Given the description of an element on the screen output the (x, y) to click on. 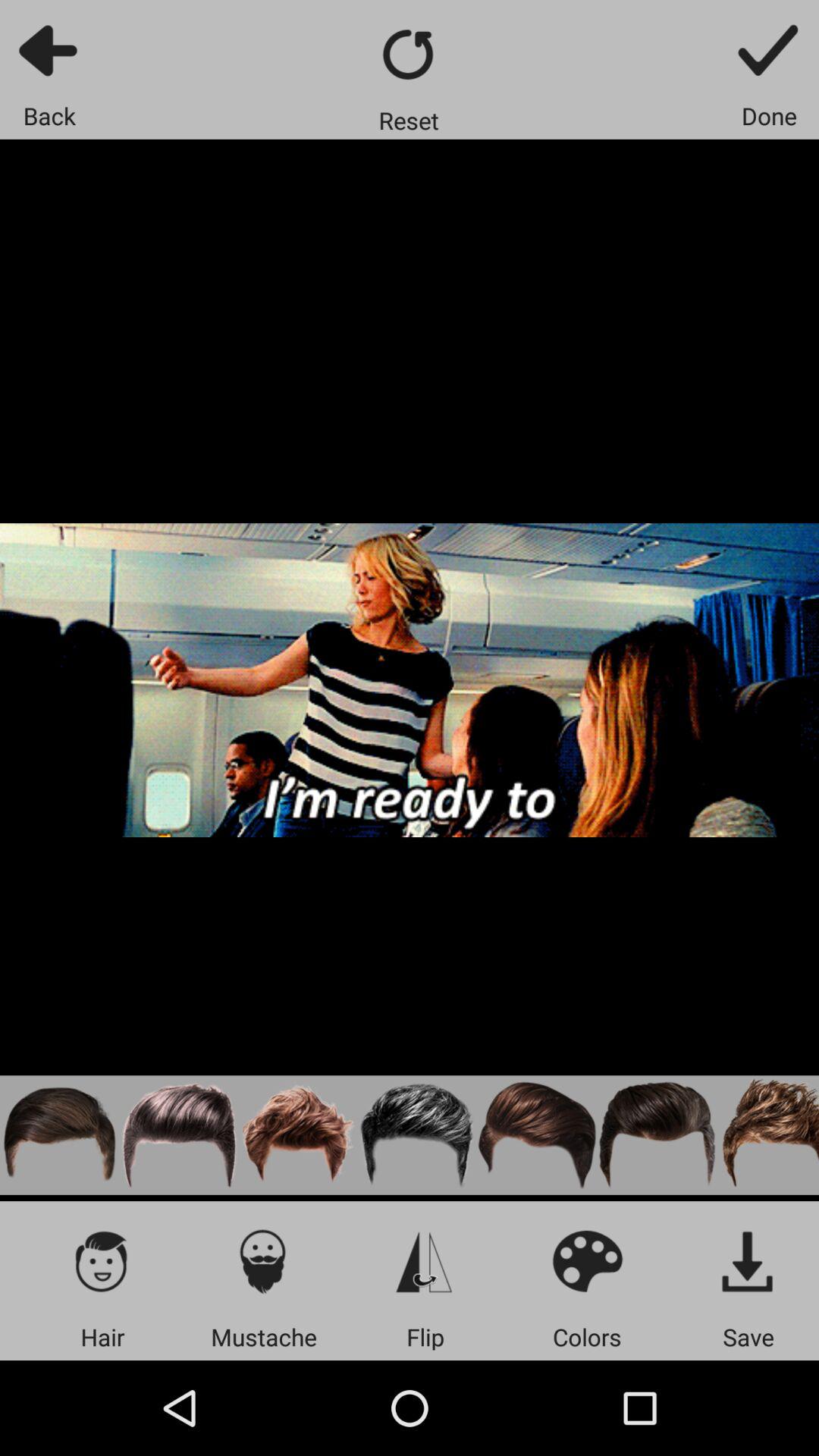
hair options (102, 1260)
